Given the description of an element on the screen output the (x, y) to click on. 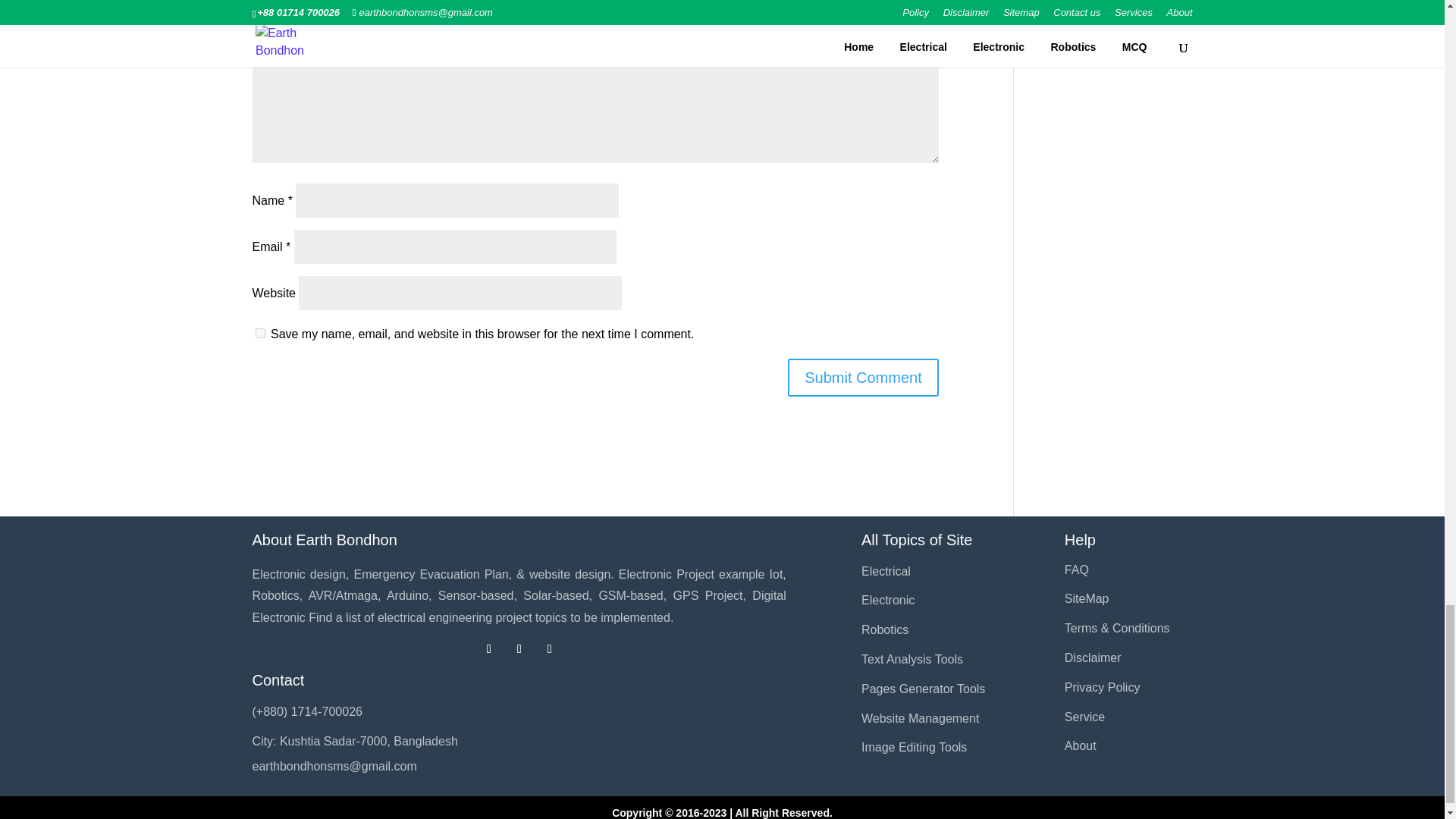
Submit Comment (863, 377)
yes (259, 333)
Follow on X (518, 648)
Follow on Youtube (549, 648)
Follow on Facebook (488, 648)
